Given the description of an element on the screen output the (x, y) to click on. 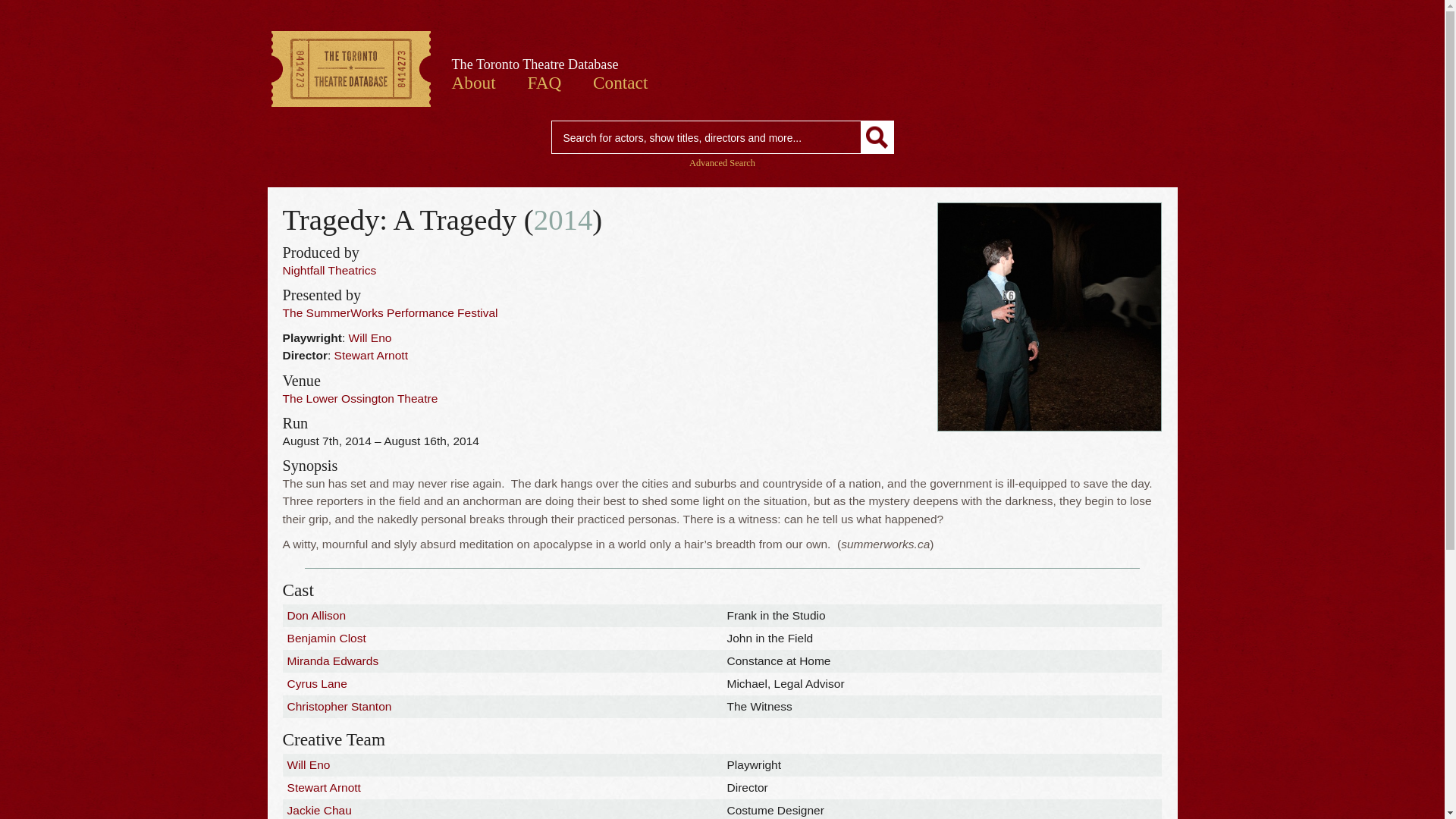
Christopher Stanton (338, 706)
Miranda Edwards (332, 660)
Advanced Search (721, 163)
Will Eno (308, 764)
The Lower Ossington Theatre (360, 398)
The SummerWorks Performance Festival (389, 312)
About (473, 82)
FAQ (543, 82)
Will Eno (370, 337)
Don Allison (316, 615)
Nightfall Theatrics (329, 269)
Contact (619, 82)
Stewart Arnott (370, 354)
2014 (563, 219)
Cyrus Lane (316, 683)
